Given the description of an element on the screen output the (x, y) to click on. 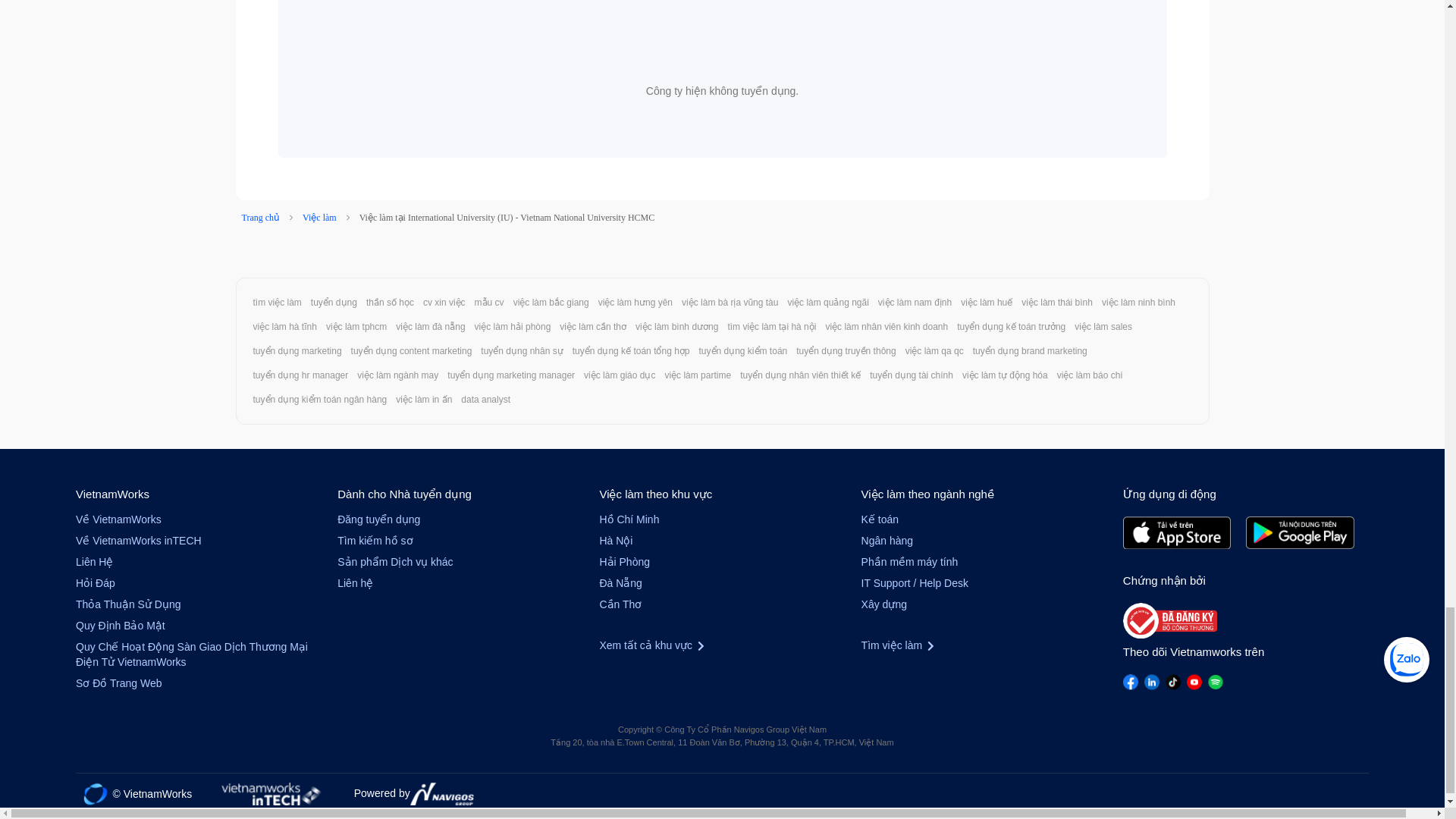
VietnamWorks's Tiktok (1173, 681)
VietnamWorks's Linkedin (1151, 681)
VietnamWorks's Facebook (1130, 681)
